Given the description of an element on the screen output the (x, y) to click on. 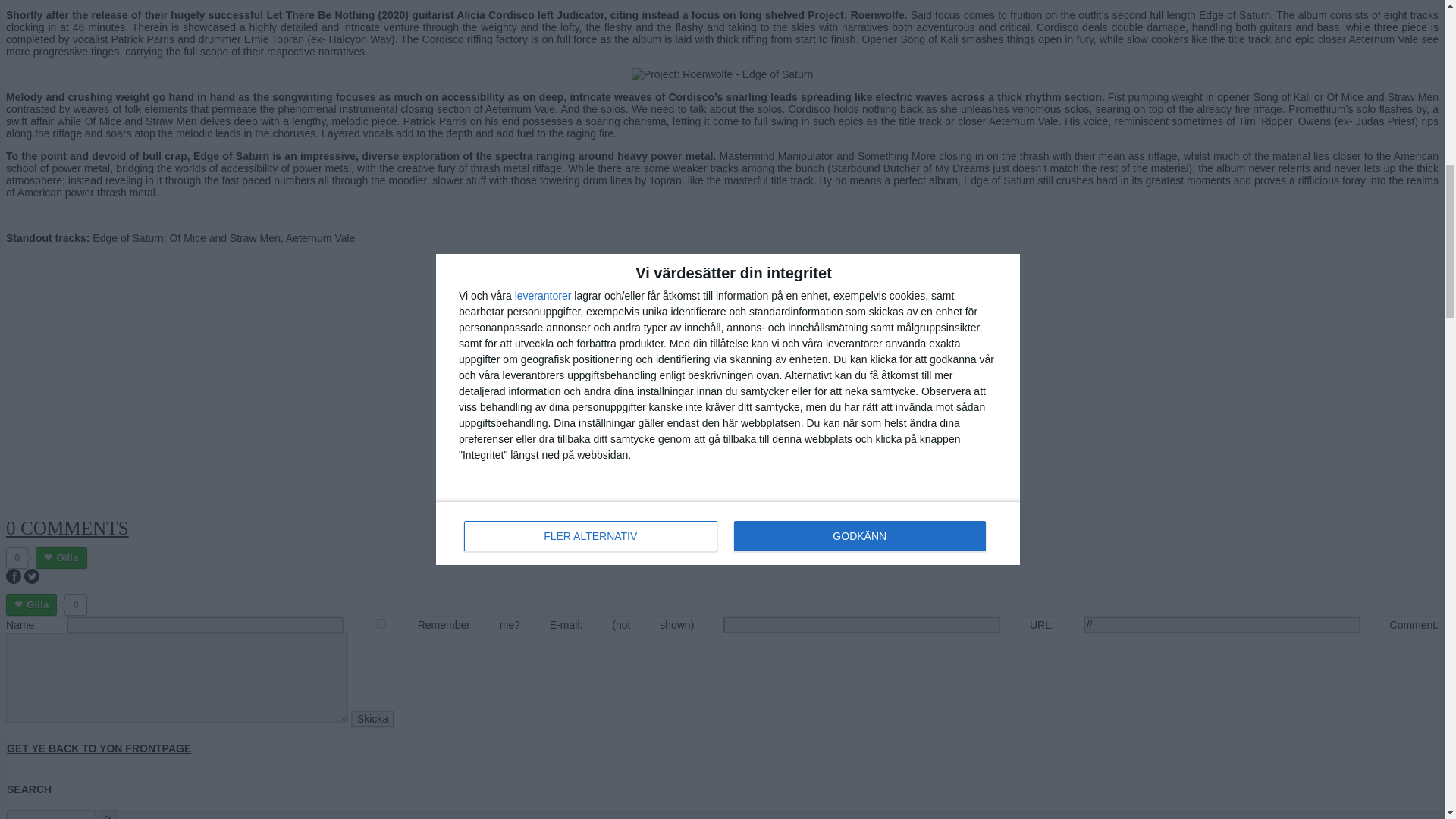
Gilla (59, 557)
Gilla (30, 604)
GET YE BACK TO YON FRONTPAGE (98, 748)
1 (380, 623)
Skicka (372, 718)
Skicka (372, 718)
0 COMMENTS (67, 527)
